Given the description of an element on the screen output the (x, y) to click on. 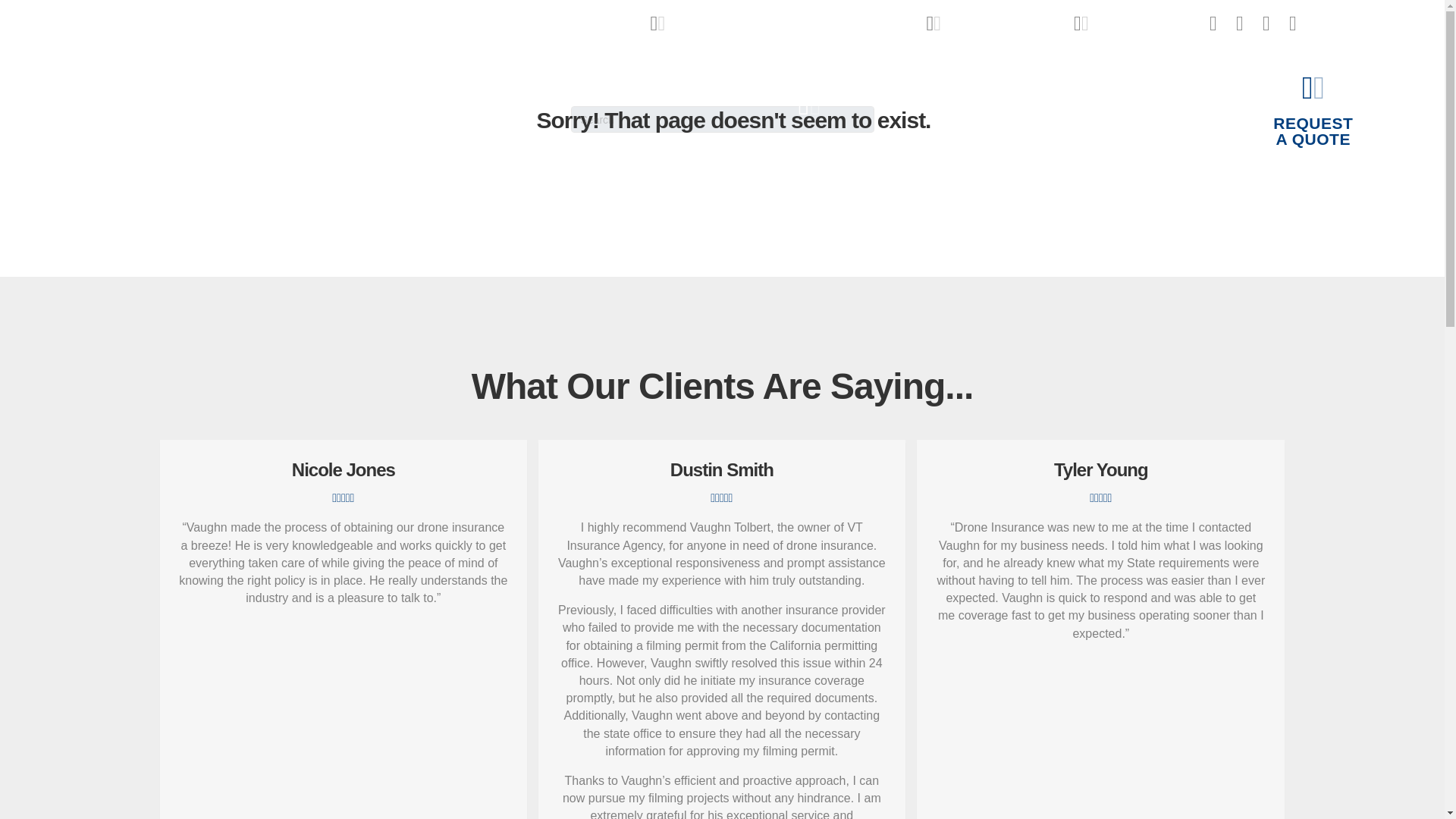
ABOUT (1007, 117)
CONTACT (1211, 117)
PARTNERS (785, 22)
Type and press Enter to search. (1139, 22)
INSURANCE (1312, 109)
